Given the description of an element on the screen output the (x, y) to click on. 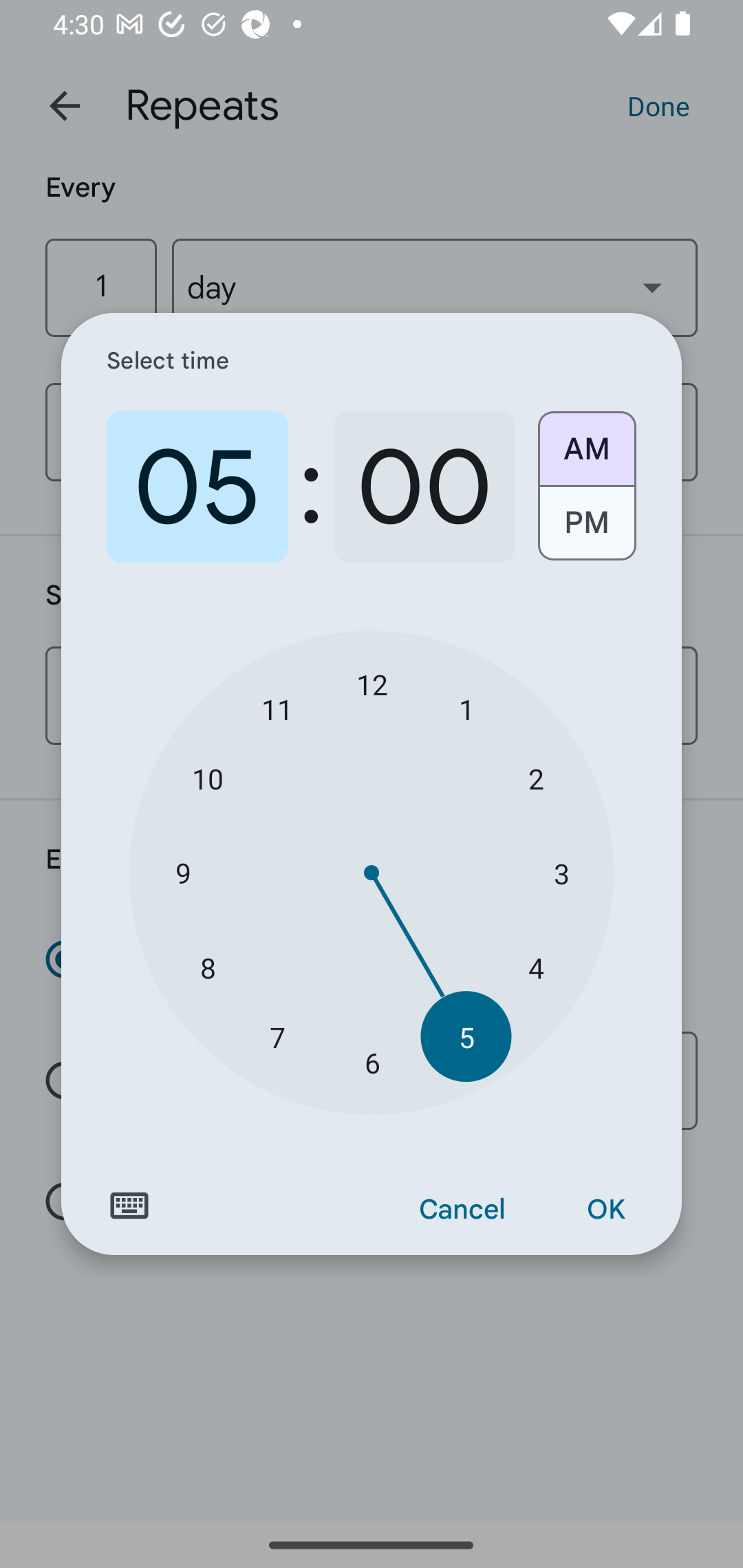
AM (586, 441)
05 5 o'clock (197, 486)
00 0 minutes (424, 486)
PM (586, 529)
12 12 o'clock (371, 683)
11 11 o'clock (276, 708)
1 1 o'clock (466, 708)
10 10 o'clock (207, 778)
2 2 o'clock (535, 778)
9 9 o'clock (182, 872)
3 3 o'clock (561, 872)
8 8 o'clock (207, 966)
4 4 o'clock (535, 966)
7 7 o'clock (276, 1035)
5 5 o'clock (466, 1035)
6 6 o'clock (371, 1062)
Switch to text input mode for the time input. (128, 1205)
Cancel (462, 1209)
OK (605, 1209)
